Given the description of an element on the screen output the (x, y) to click on. 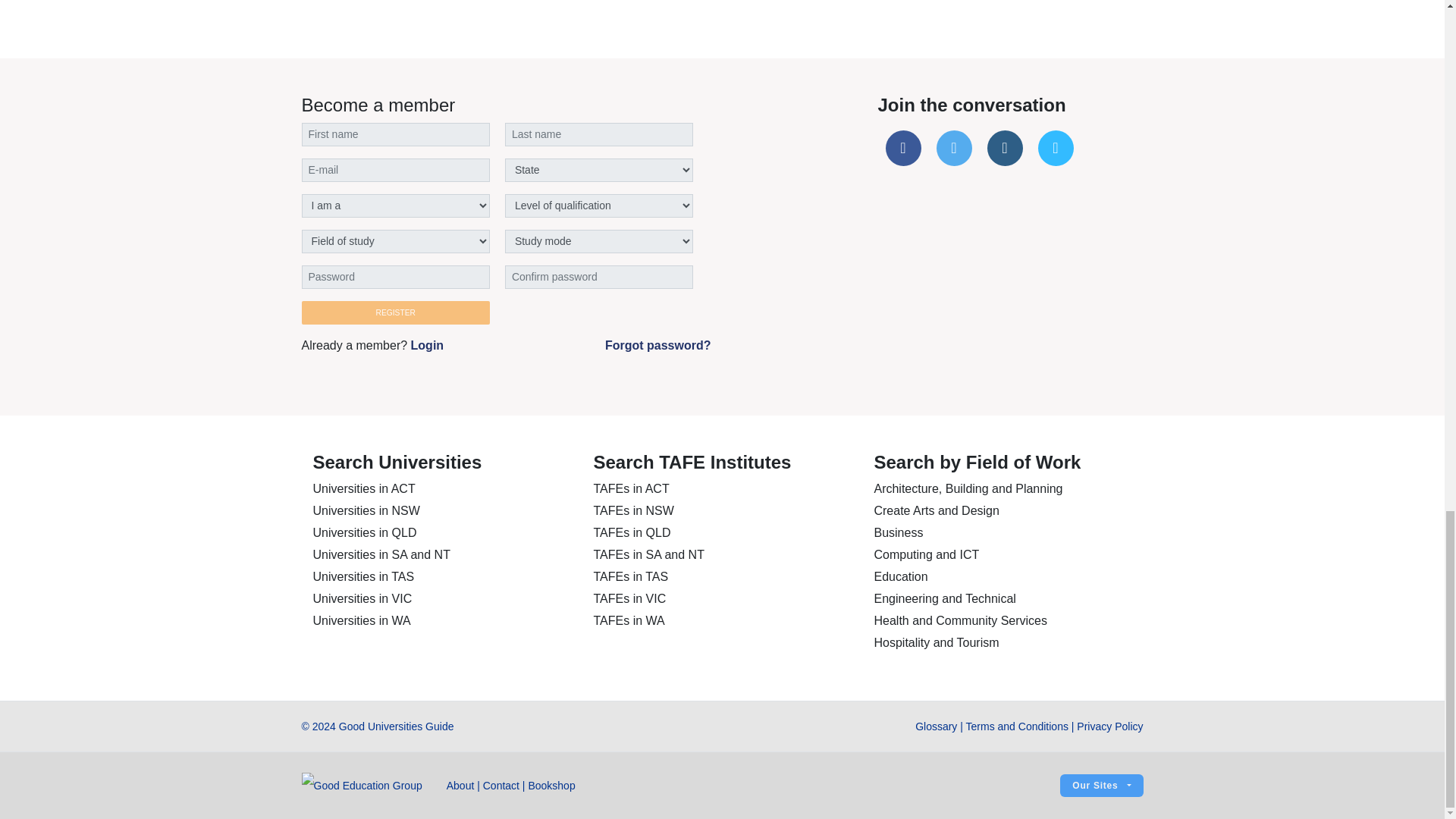
Universities in NSW (366, 510)
Universities in VIC (362, 598)
Universities in SA and NT (381, 554)
Forgot password? (658, 345)
REGISTER (395, 312)
Universities in ACT (363, 488)
Universities in TAS (363, 576)
Universities in QLD (364, 532)
Login (427, 345)
